Given the description of an element on the screen output the (x, y) to click on. 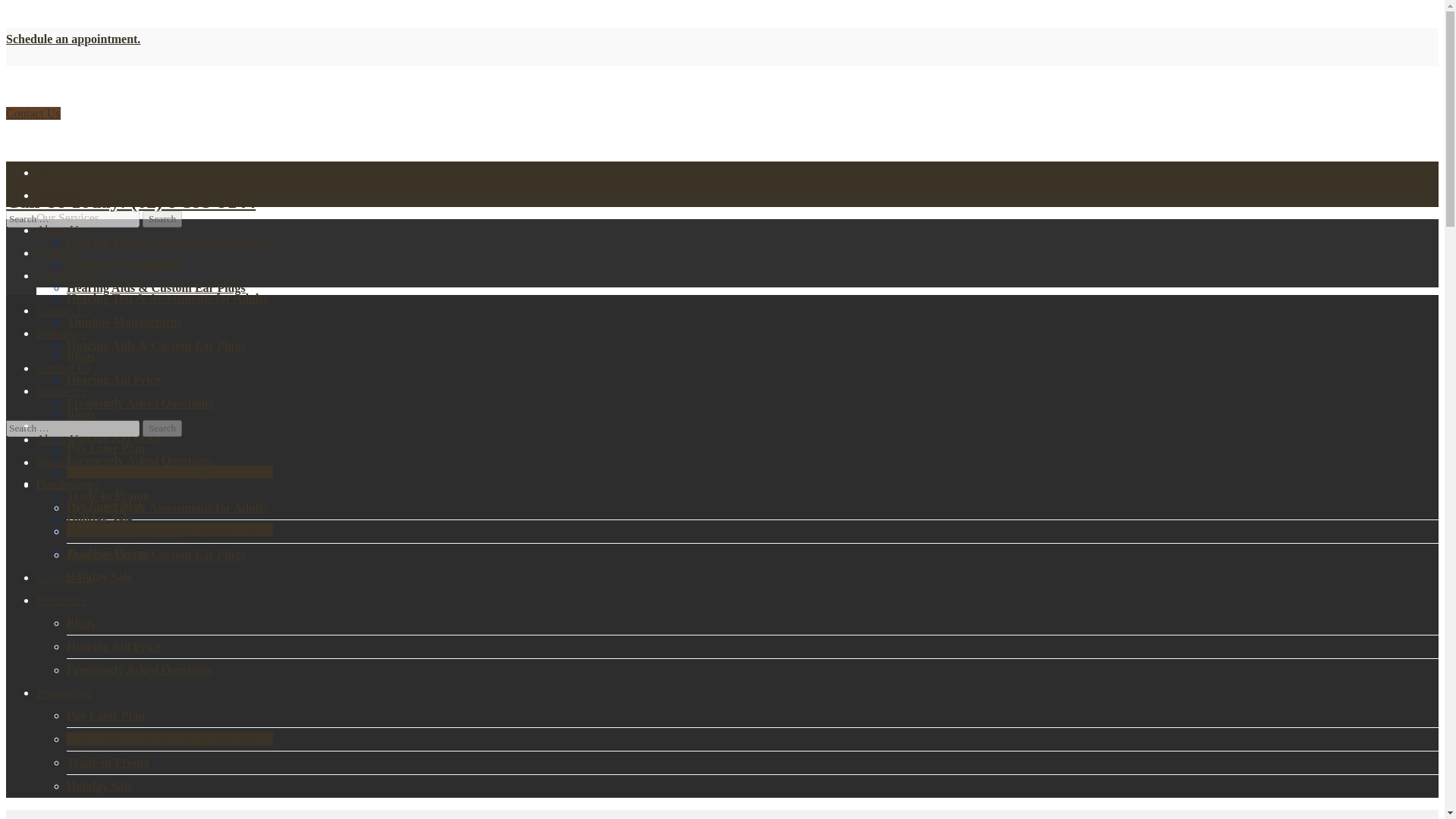
Contact Us (63, 367)
About Us (59, 172)
Frequently Asked Questions (139, 460)
Contact Us (63, 309)
Trade-in Promo (107, 495)
Hearing Aid Price (113, 436)
Promotions (64, 482)
Holiday Sale (99, 576)
About Us (59, 229)
Tinnitus Management (123, 264)
